Given the description of an element on the screen output the (x, y) to click on. 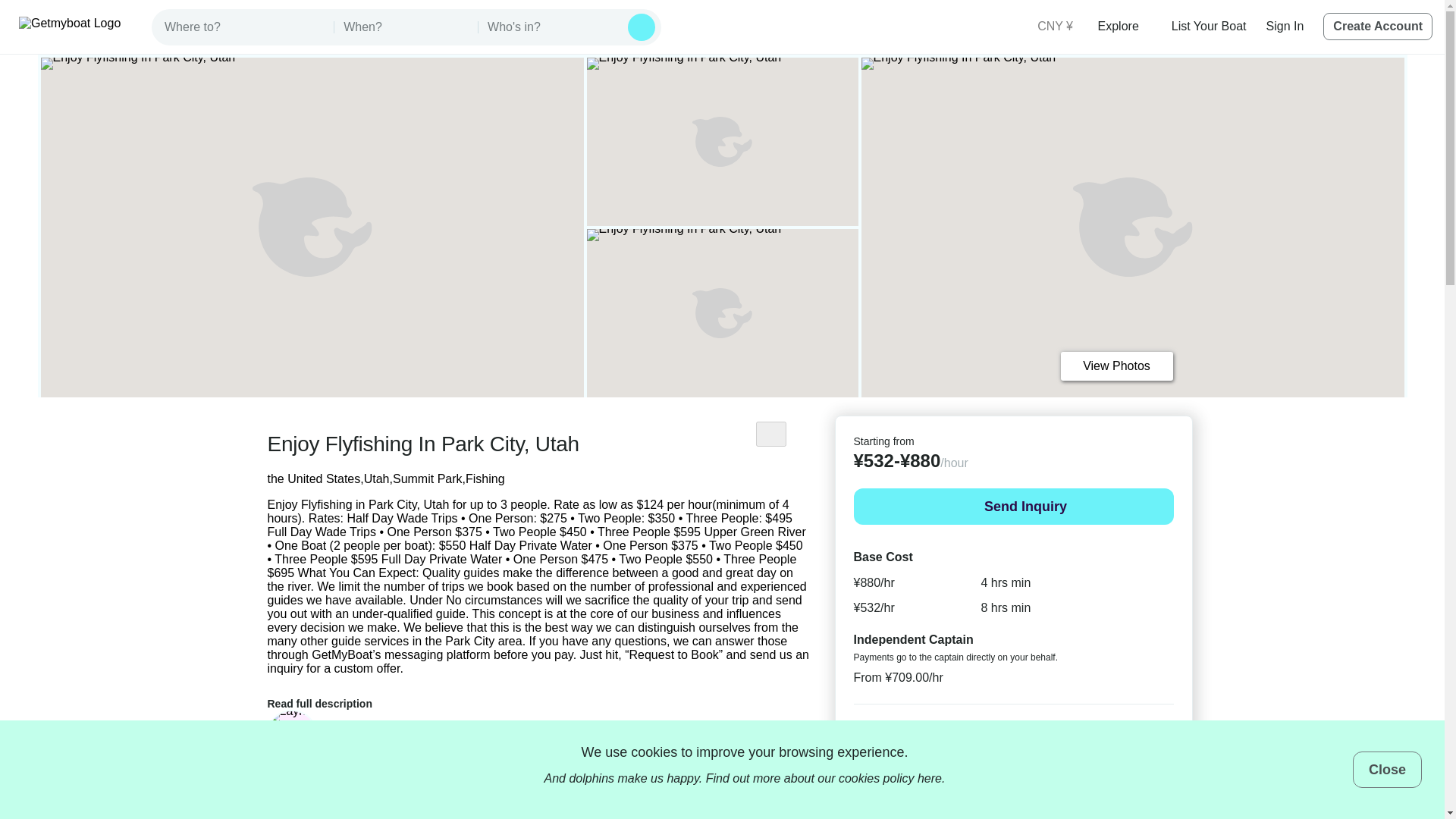
Read full description (329, 699)
cookies policy here (890, 778)
Send Inquiry (1013, 506)
Summit Park (428, 478)
Utah (377, 478)
the United States (312, 478)
Search (641, 26)
Create Account (1377, 26)
Close (1387, 769)
List Your Boat (1209, 26)
